Given the description of an element on the screen output the (x, y) to click on. 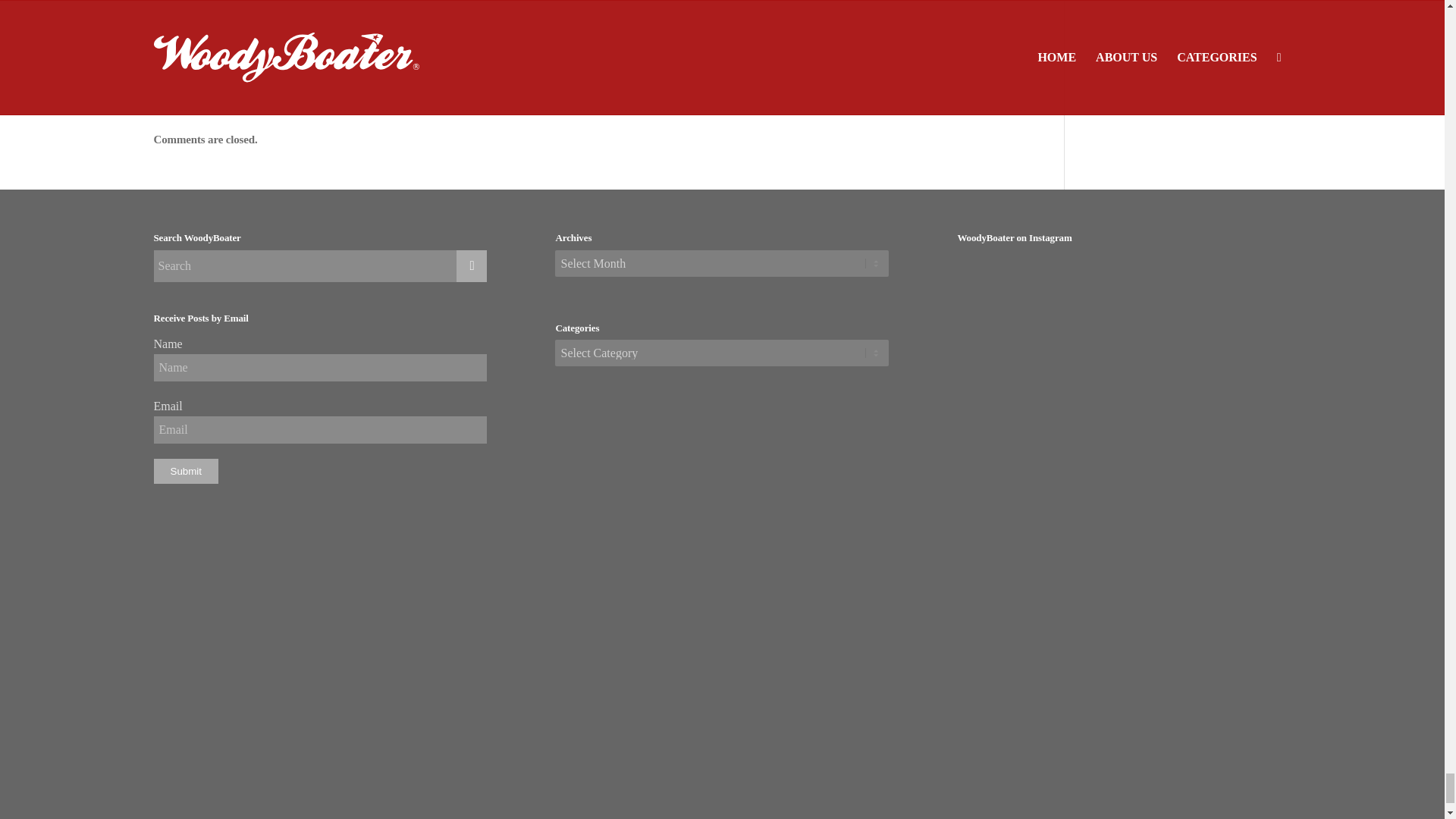
Click to start search (471, 265)
Submit (184, 471)
